Given the description of an element on the screen output the (x, y) to click on. 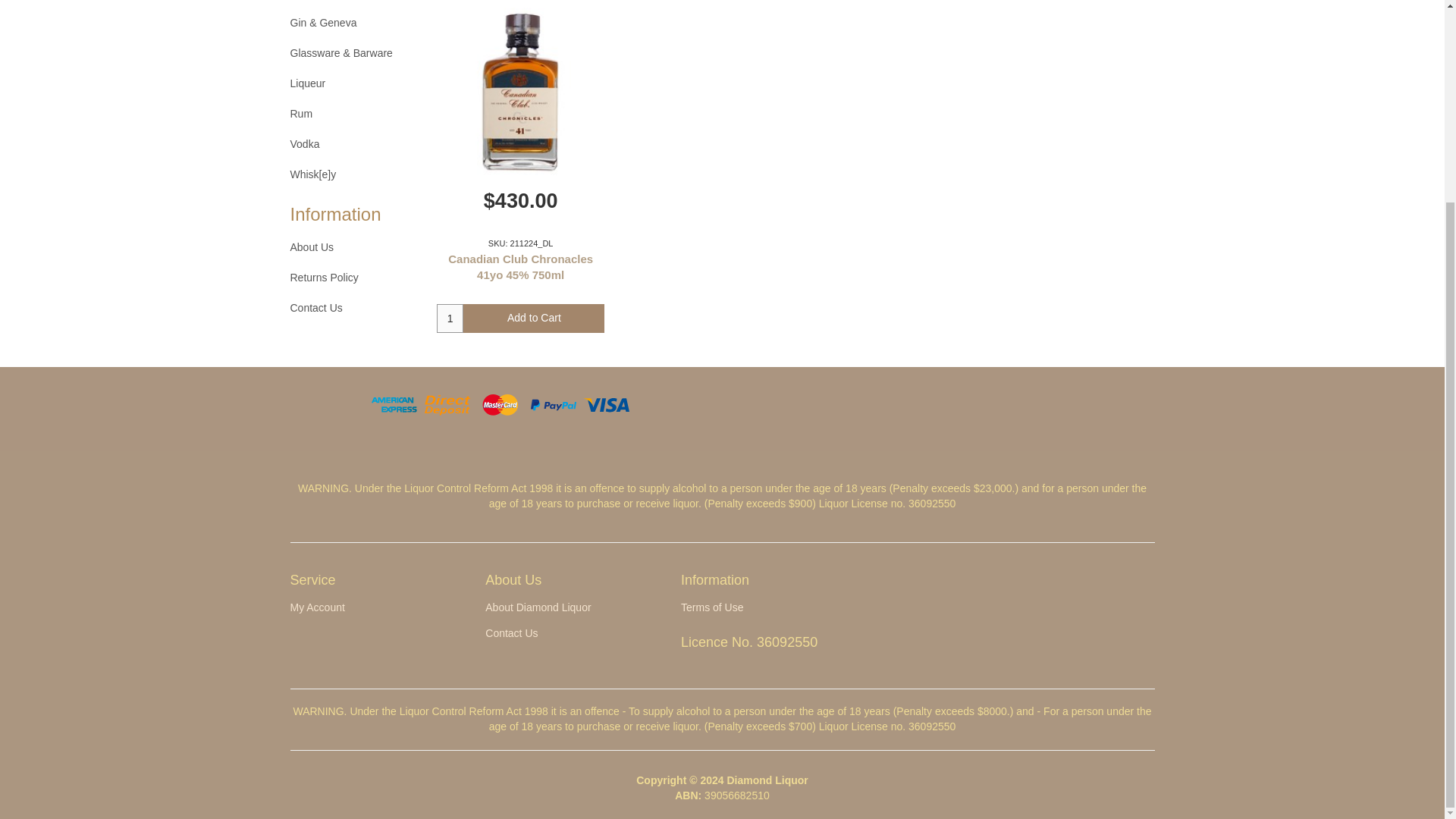
1 (449, 317)
Contact Us (354, 308)
About Us (354, 247)
Add to Cart (533, 317)
Vodka (354, 144)
Liqueur (354, 83)
Rum (354, 114)
Returns Policy (354, 277)
